Given the description of an element on the screen output the (x, y) to click on. 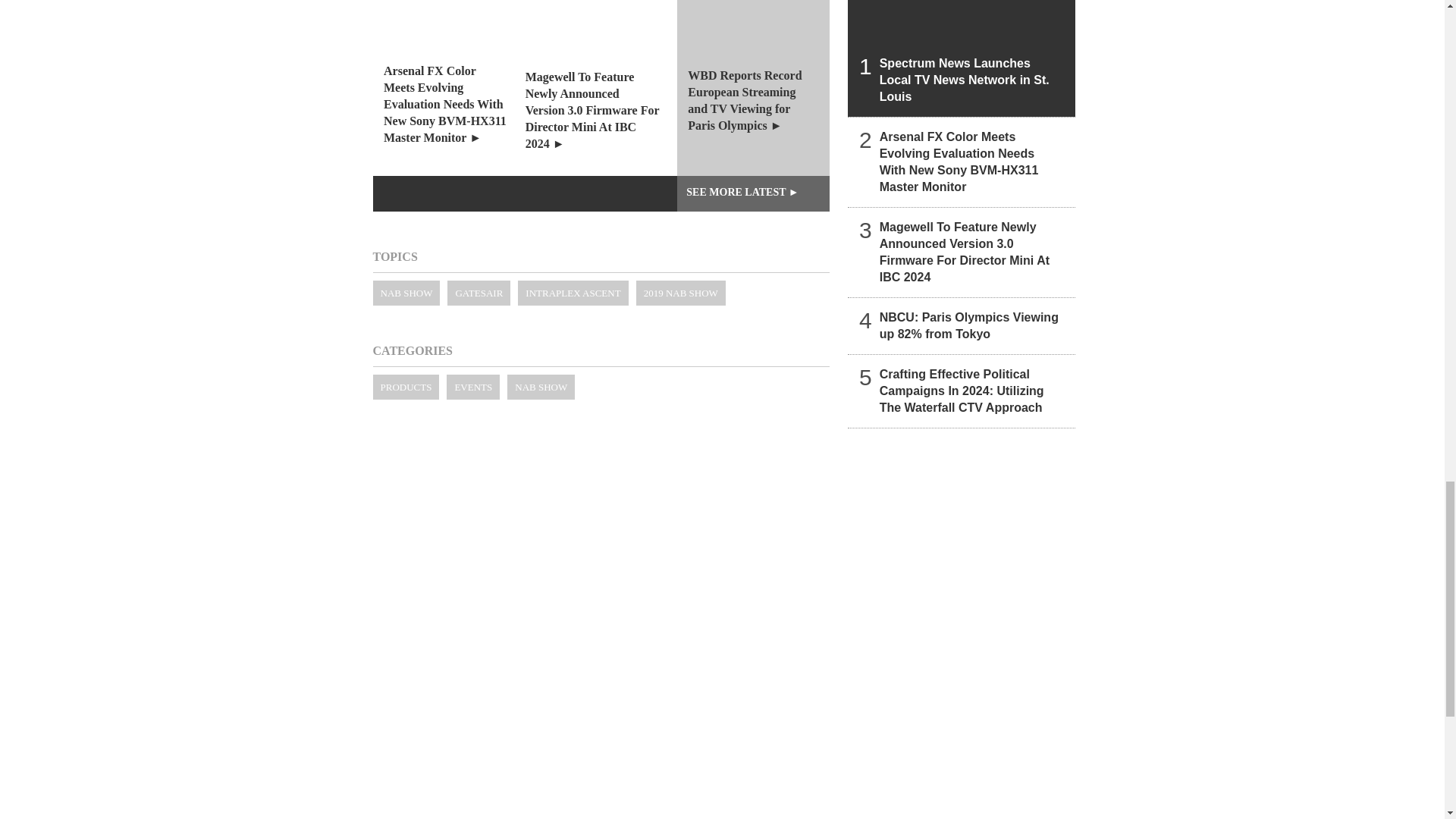
Spectrum News Launches Local TV News Network in St. Louis (961, 58)
NAB SHOW (406, 292)
INTRAPLEX ASCENT (572, 292)
2019 NAB SHOW (680, 292)
GATESAIR (478, 292)
